Given the description of an element on the screen output the (x, y) to click on. 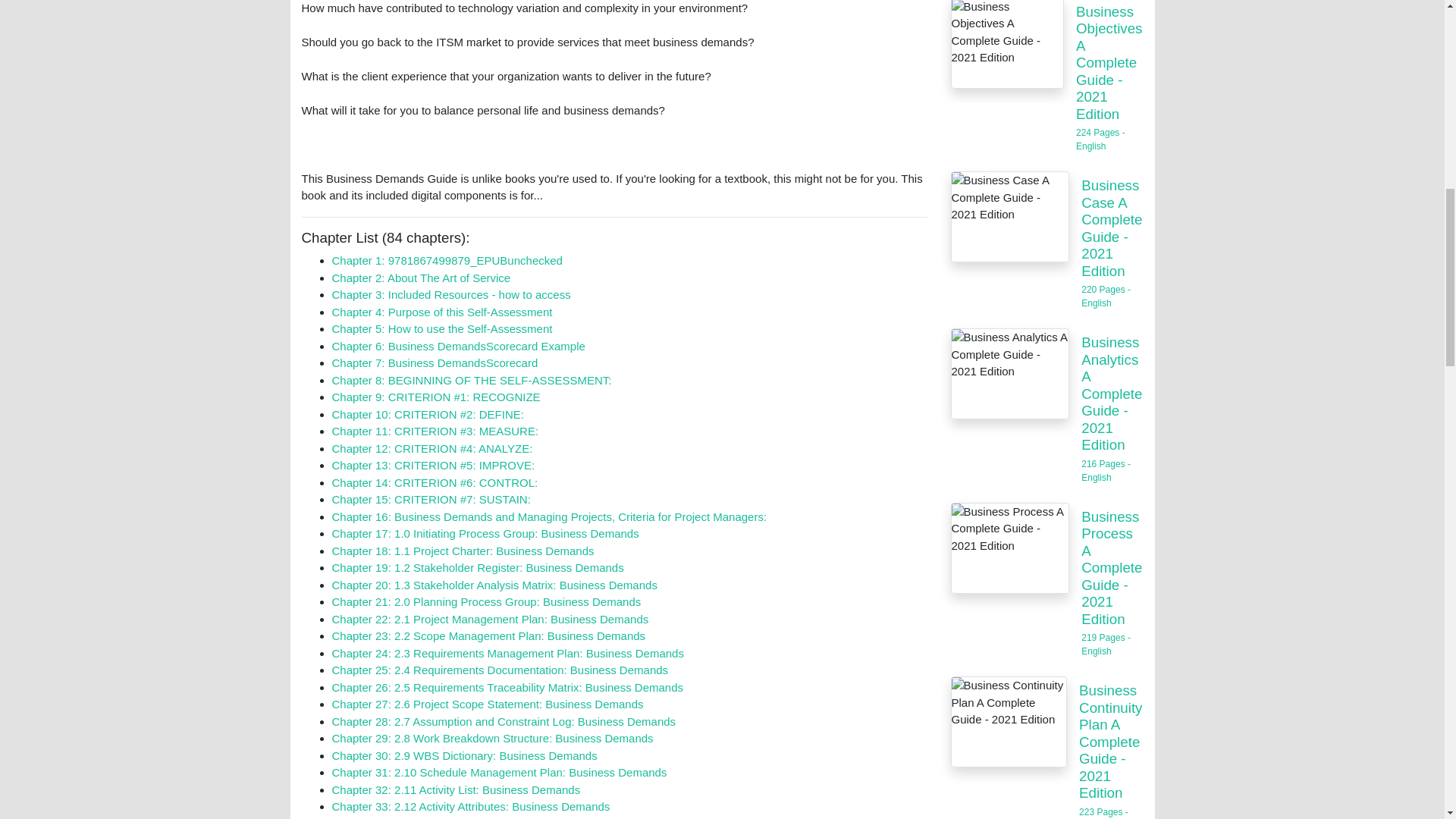
Business Case A Complete Guide - 2021 Edition (1010, 216)
Business Continuity Plan A Complete Guide - 2021 Edition (1008, 721)
Chapter 4: Purpose of this Self-Assessment (442, 311)
Business Process A Complete Guide - 2021 Edition (1010, 547)
Chapter 5: How to use the Self-Assessment (442, 328)
Chapter 6: Business DemandsScorecard Example (458, 345)
Chapter 8: BEGINNING OF THE SELF-ASSESSMENT: (471, 379)
Business Analytics A Complete Guide - 2021 Edition (1010, 373)
Chapter 2: About The Art of Service (421, 277)
Business Objectives A Complete Guide - 2021 Edition (1007, 43)
Chapter 3: Included Resources - how to access (450, 294)
Chapter 7: Business DemandsScorecard (434, 362)
